Given the description of an element on the screen output the (x, y) to click on. 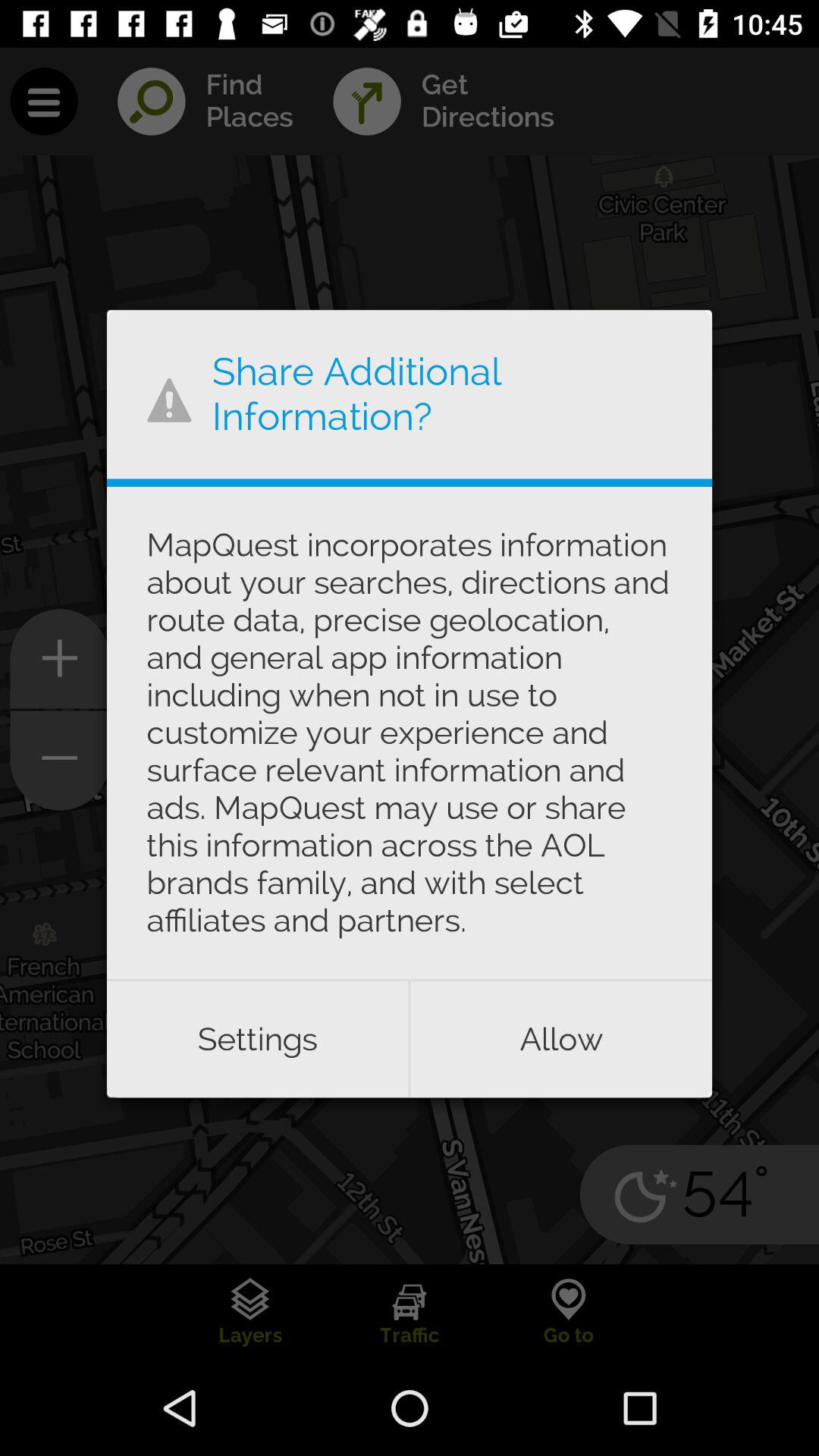
scroll until the settings item (257, 1039)
